Given the description of an element on the screen output the (x, y) to click on. 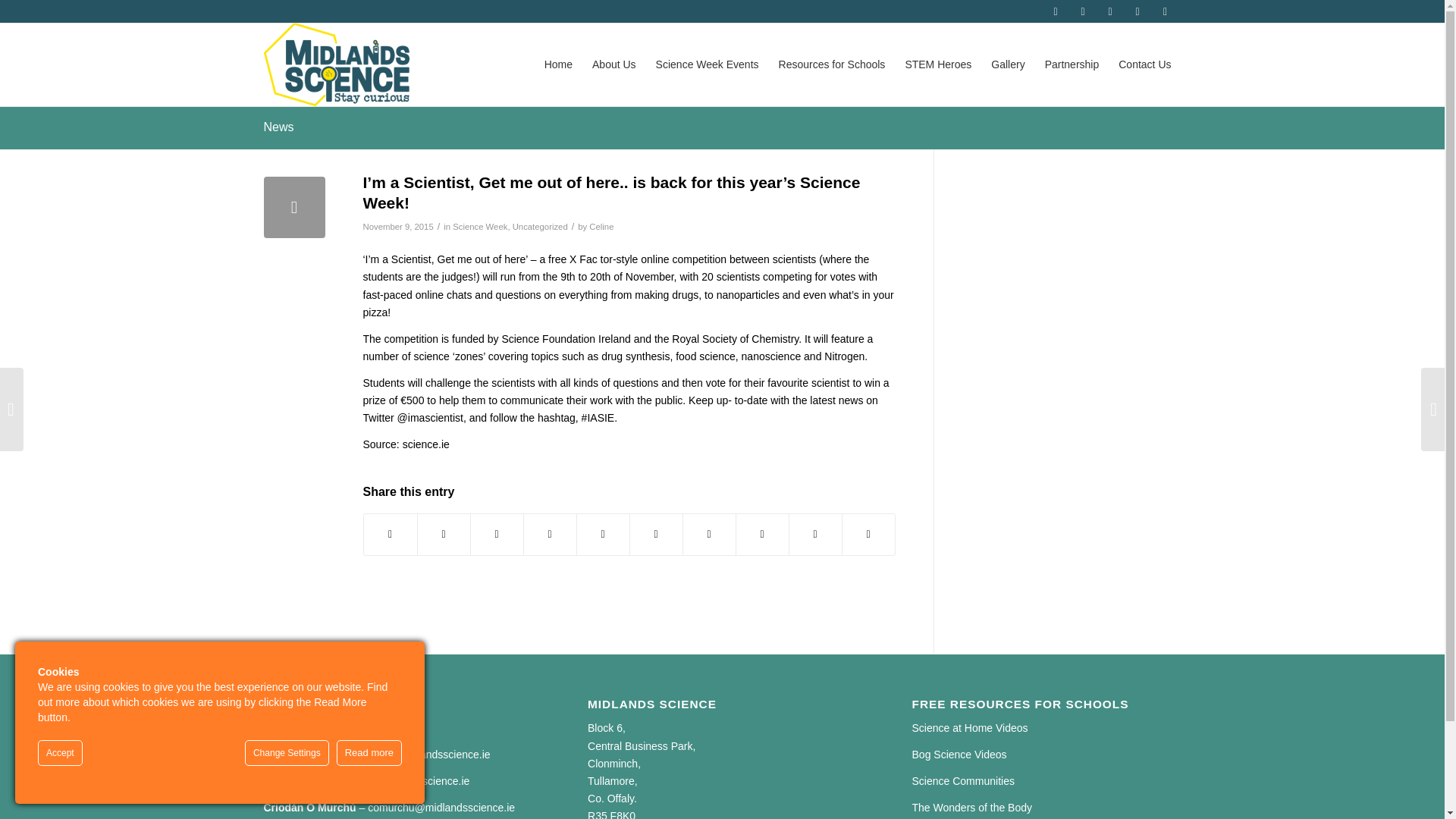
STEM Heroes (938, 64)
Resources for Schools (831, 64)
Instagram (1110, 11)
Posts by Celine (600, 225)
Facebook (1082, 11)
X (1165, 11)
Partnership (1072, 64)
Permanent Link: News (278, 126)
LinkedIn (1137, 11)
Science Week Events (707, 64)
Youtube (1056, 11)
